Given the description of an element on the screen output the (x, y) to click on. 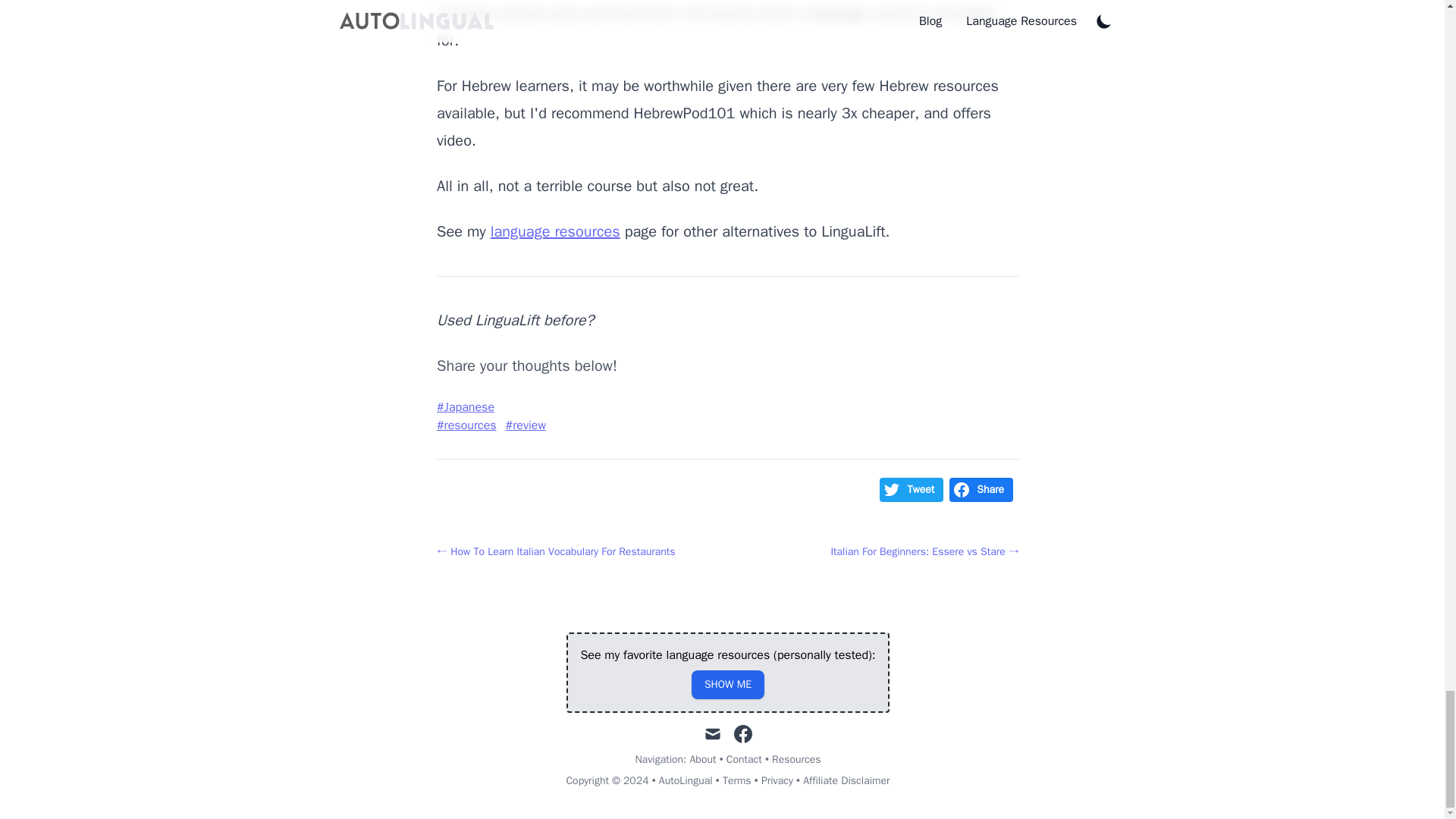
Share (981, 489)
About (703, 758)
SHOW ME (727, 684)
SHOW ME (727, 684)
facebook (742, 733)
Resources (796, 758)
language resources (555, 230)
Tweet (911, 489)
Contact (743, 758)
mail (712, 733)
